Given the description of an element on the screen output the (x, y) to click on. 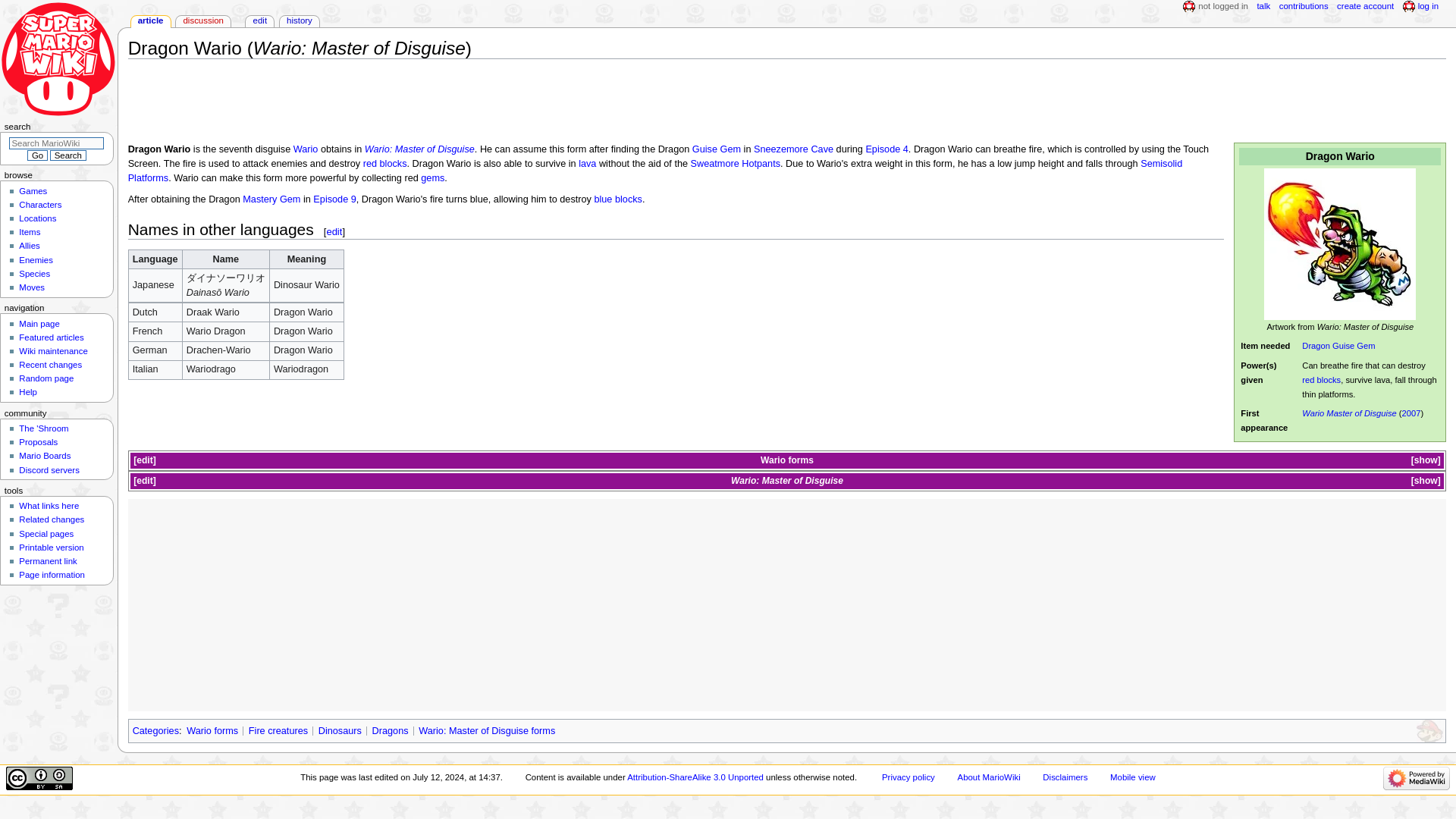
Semisolid Platforms (655, 170)
Sneezemore Cave (793, 149)
Sweatmore Hotpants (735, 163)
Go (36, 154)
show (1425, 460)
Search (67, 154)
Sneezemore Cave (793, 149)
edit (144, 460)
Wario (306, 149)
Episode 4 (885, 149)
Wario (773, 460)
Wario: Master of Disguise (419, 149)
Wario Master of Disguise (1348, 412)
Wario Master of Disguise (1348, 412)
List of games by date (1411, 412)
